Given the description of an element on the screen output the (x, y) to click on. 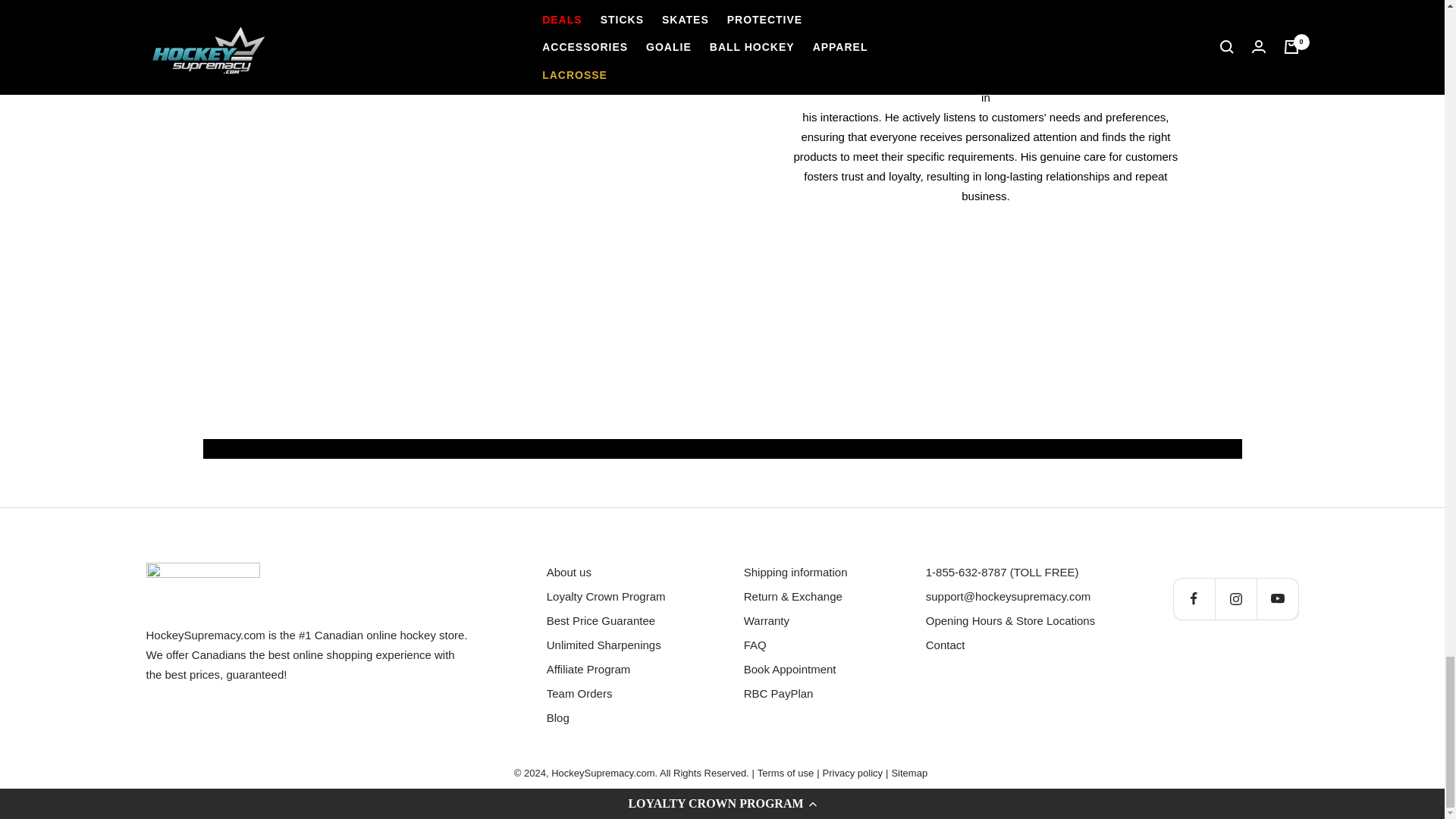
Best Price Guarantee (601, 620)
Loyalty Crown Program (606, 596)
Blog (558, 718)
Terms of use (785, 773)
Book Appointment (789, 669)
Shipping information (795, 572)
Contact (945, 645)
RBC PayPlan (778, 693)
FAQ (755, 645)
Team Orders (579, 693)
Warranty (766, 620)
Unlimited Sharpenings (604, 645)
About us (569, 572)
Affiliate Program (588, 669)
